Given the description of an element on the screen output the (x, y) to click on. 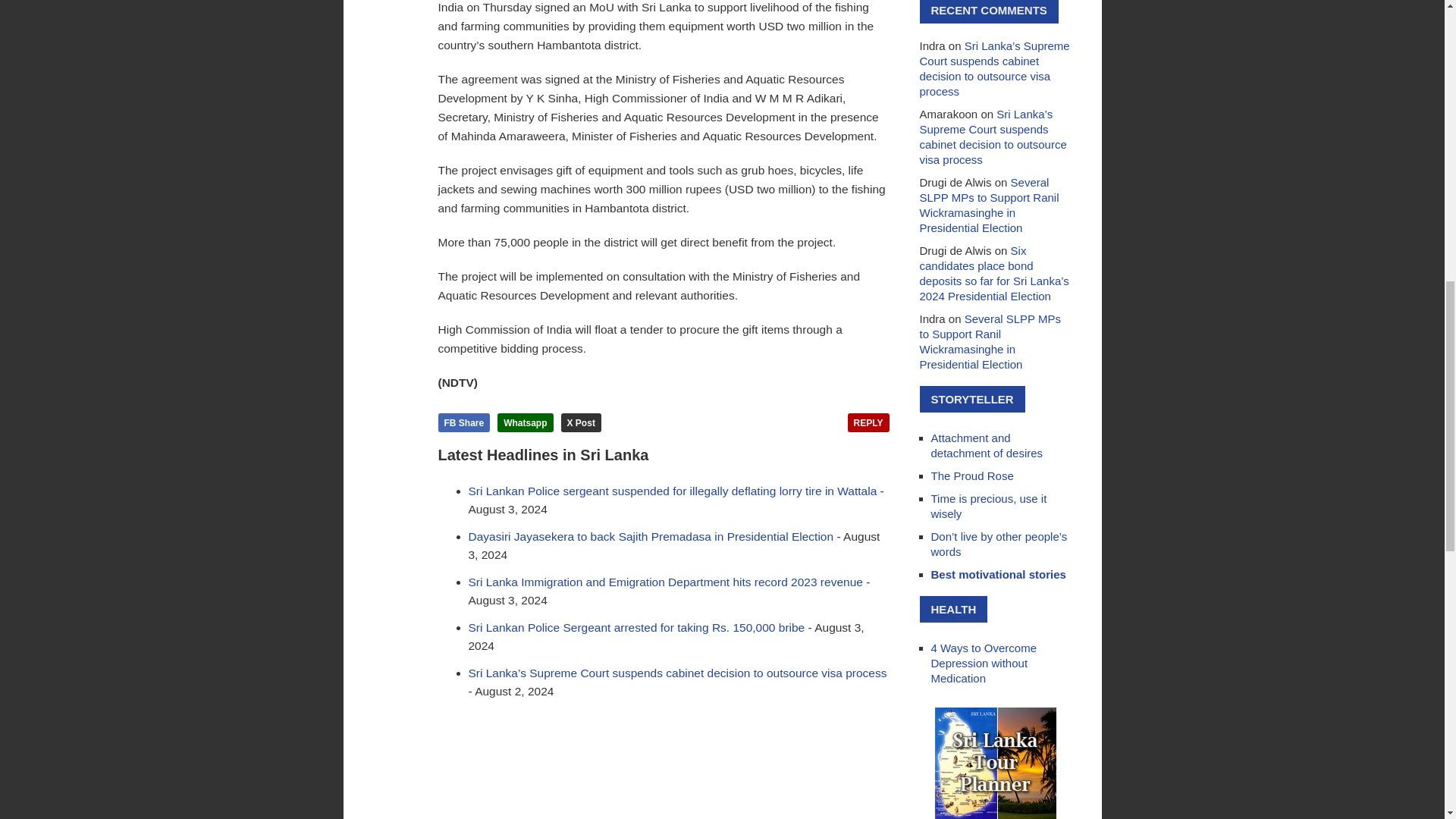
Time is precious, use it wisely (988, 506)
Whatsapp (525, 422)
Advertisement (663, 767)
X Post (580, 422)
Write your Comments (868, 422)
Best motivational stories (998, 574)
Share on Whatsapp (525, 422)
Attachment and detachment of desires (987, 445)
The Proud Rose (972, 475)
Share on Facebook (464, 422)
